Given the description of an element on the screen output the (x, y) to click on. 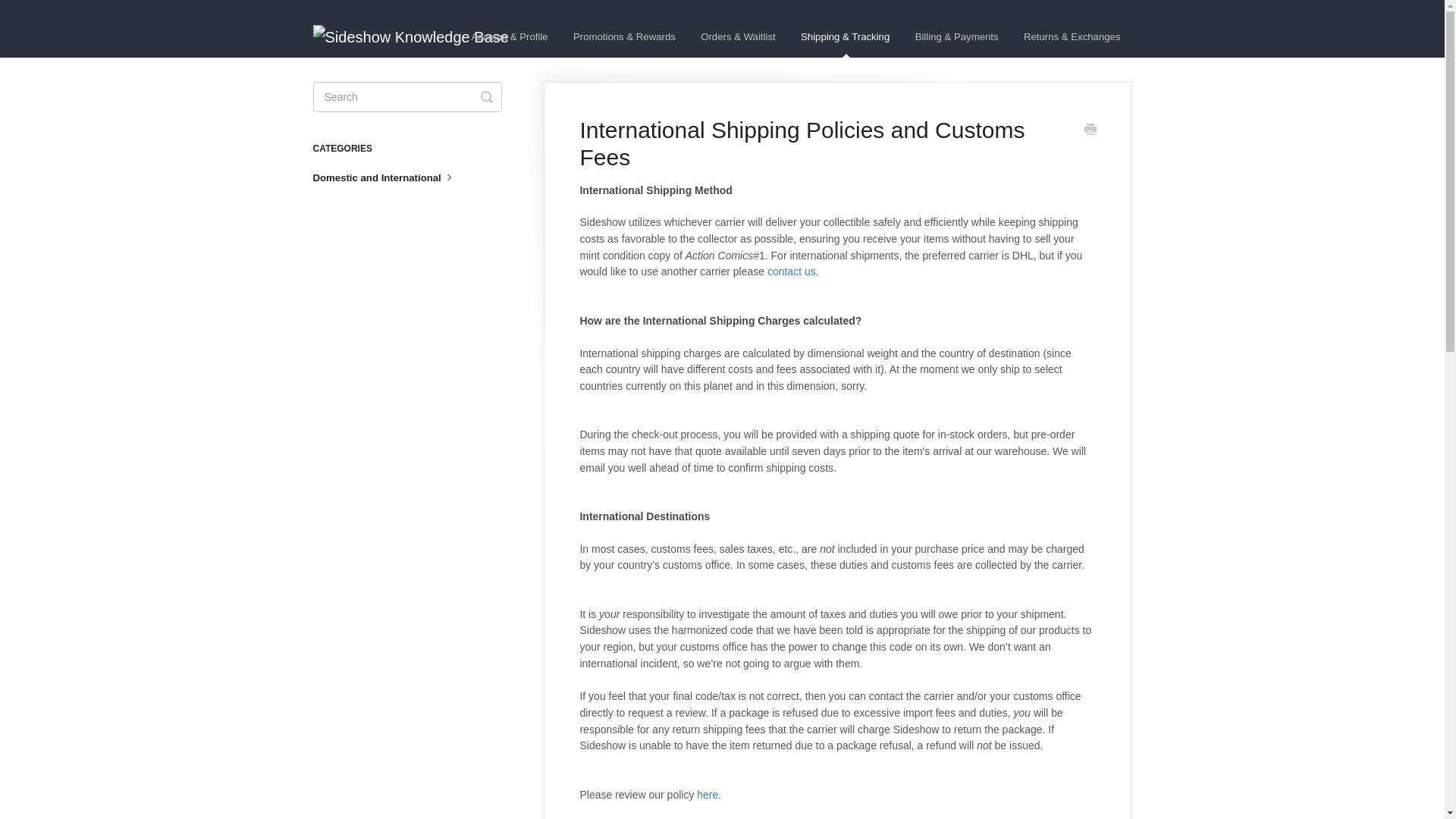
Toggle Search (486, 96)
contact us (791, 271)
Domestic and International (390, 177)
Print this article (1090, 130)
here. (708, 794)
search-query (406, 96)
